Given the description of an element on the screen output the (x, y) to click on. 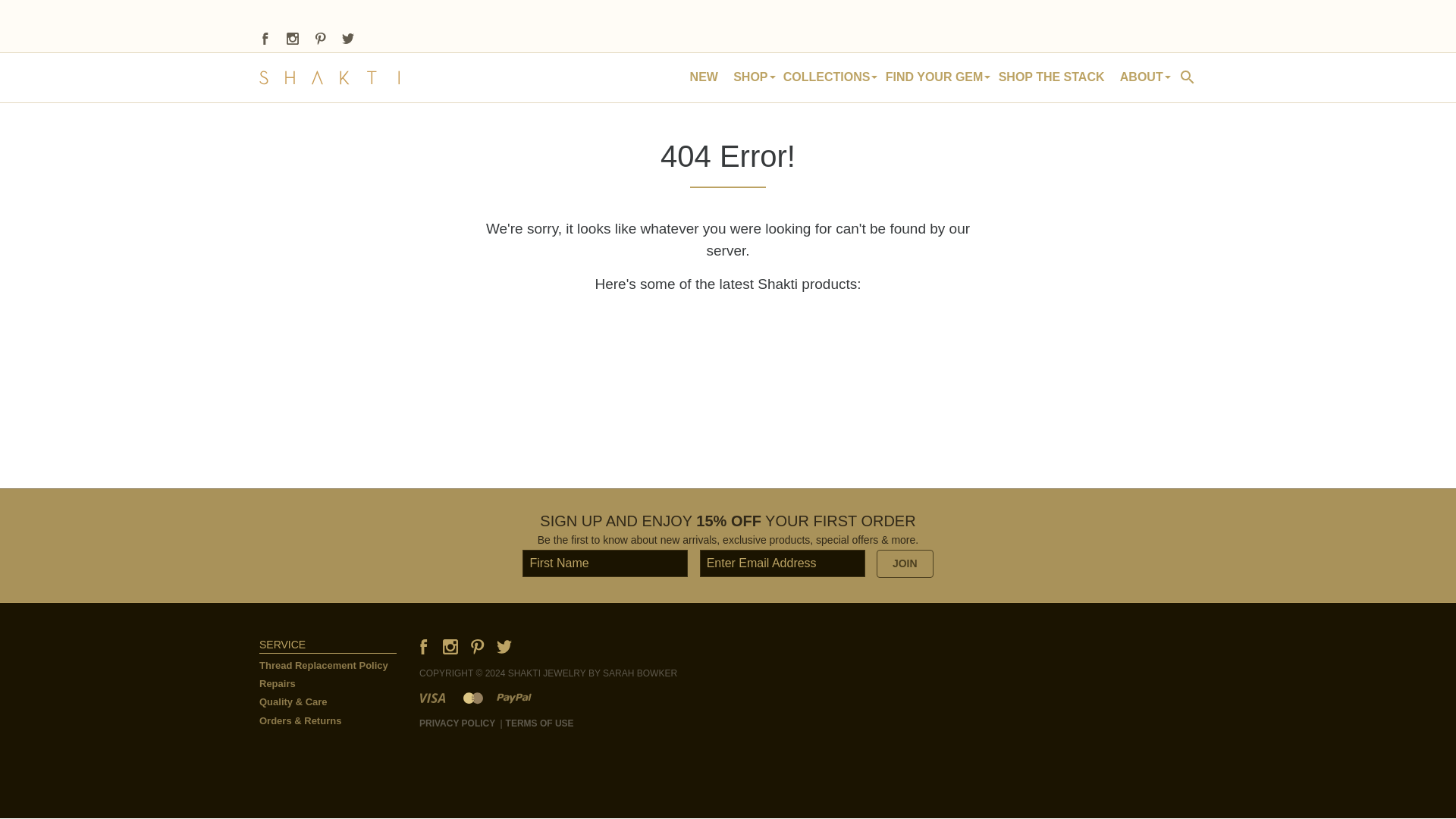
Join (904, 563)
